Given the description of an element on the screen output the (x, y) to click on. 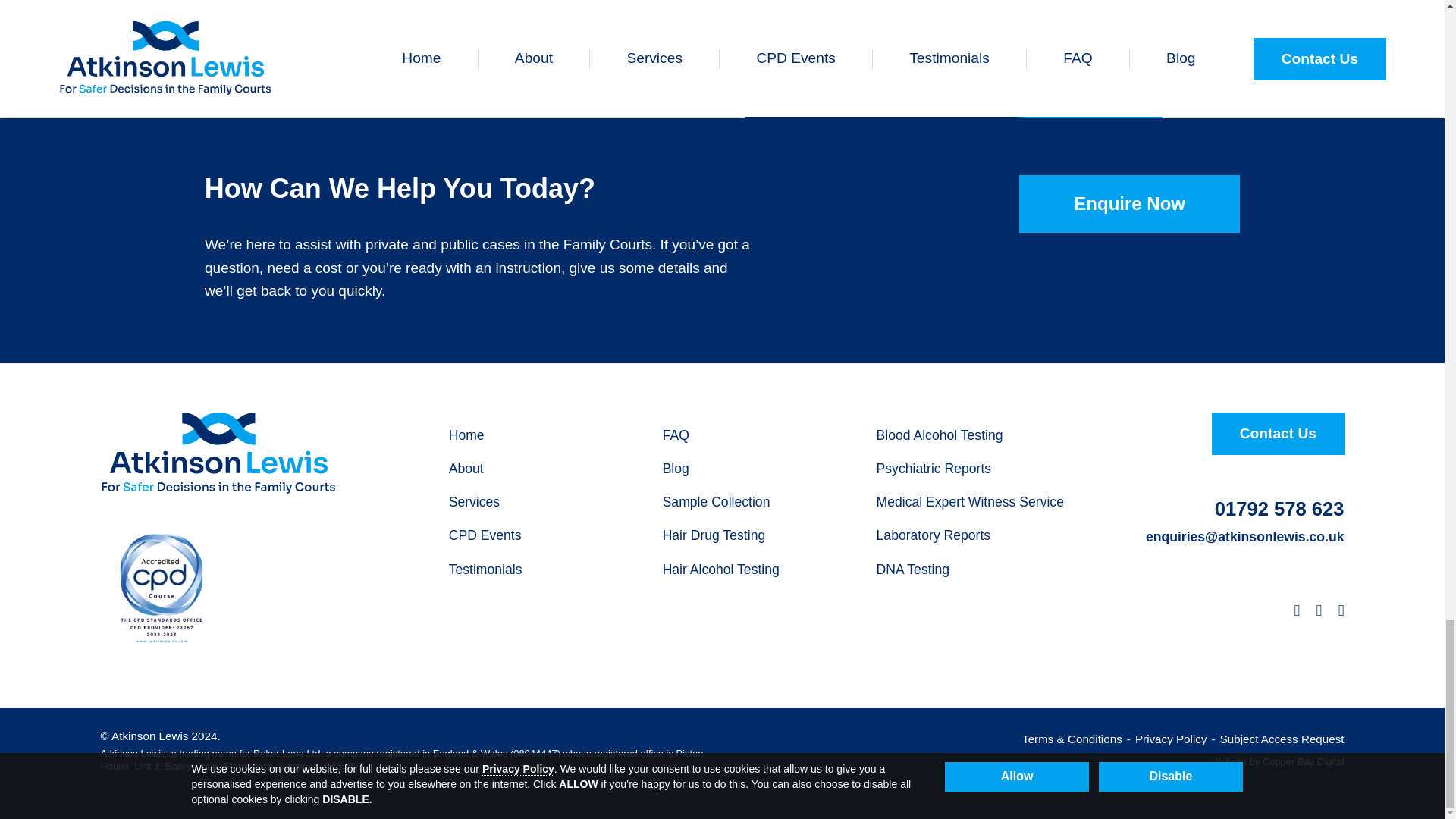
FAQ (675, 435)
Testimonials (485, 570)
01792 578 623 (1278, 508)
Sample Collection (716, 503)
CPD Events (484, 536)
Twitter (1319, 611)
Services (473, 503)
Hair Alcohol Testing (720, 570)
Enquire Now (1129, 204)
Facebook (1340, 611)
Blood Alcohol Testing (939, 435)
About (465, 469)
Hair Drug Testing (713, 536)
Blog (675, 469)
Psychiatric Reports (933, 469)
